Given the description of an element on the screen output the (x, y) to click on. 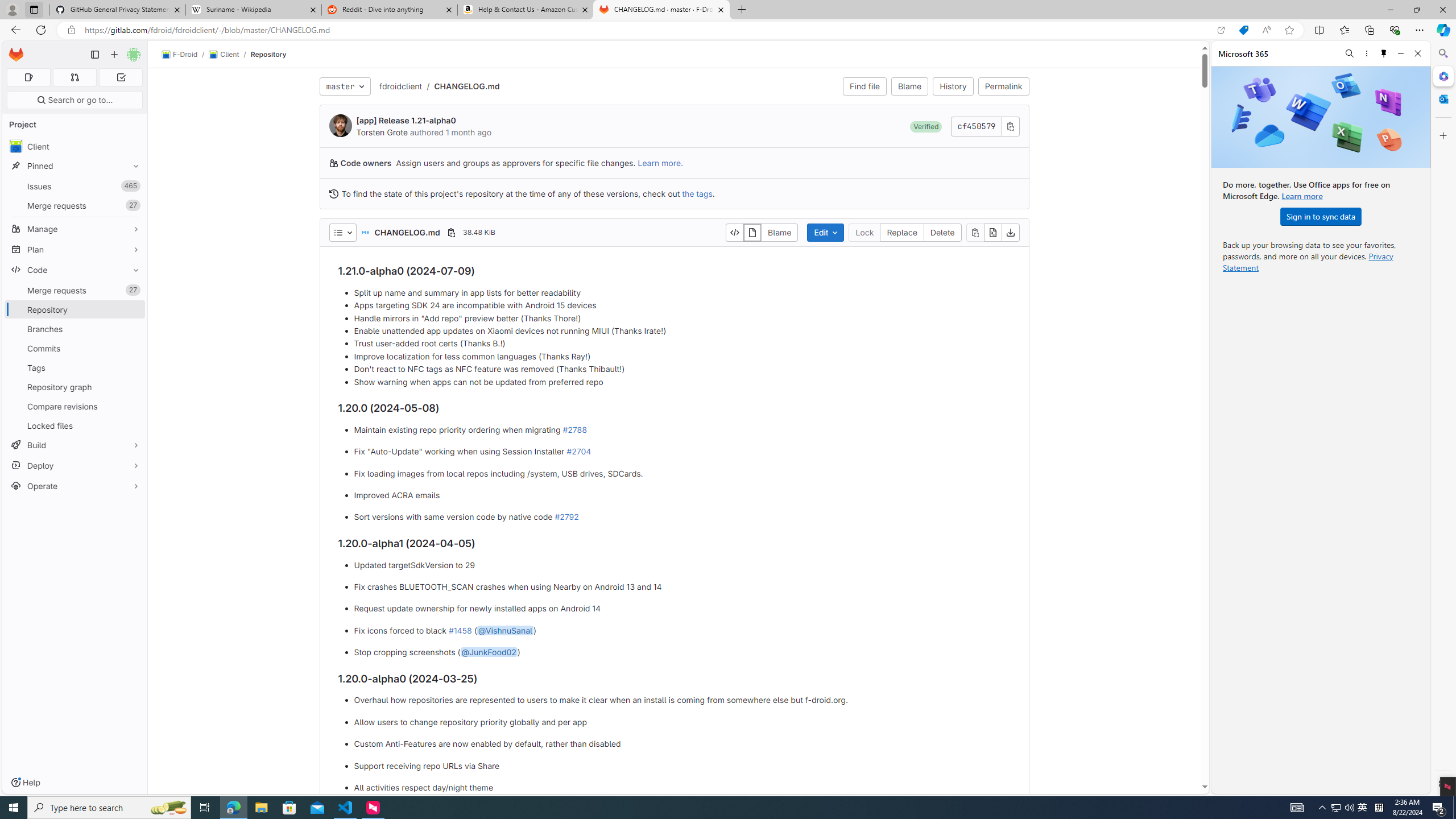
Compare revisions (74, 406)
Lock (864, 232)
Fix icons forced to black #1458 (@VishnuSanal) (681, 630)
Plan (74, 248)
Unpin Merge requests (132, 290)
Learn more about Microsoft Office. (1302, 195)
Deploy (74, 465)
Help (25, 782)
Pinned (74, 165)
Permalink (1002, 85)
